Given the description of an element on the screen output the (x, y) to click on. 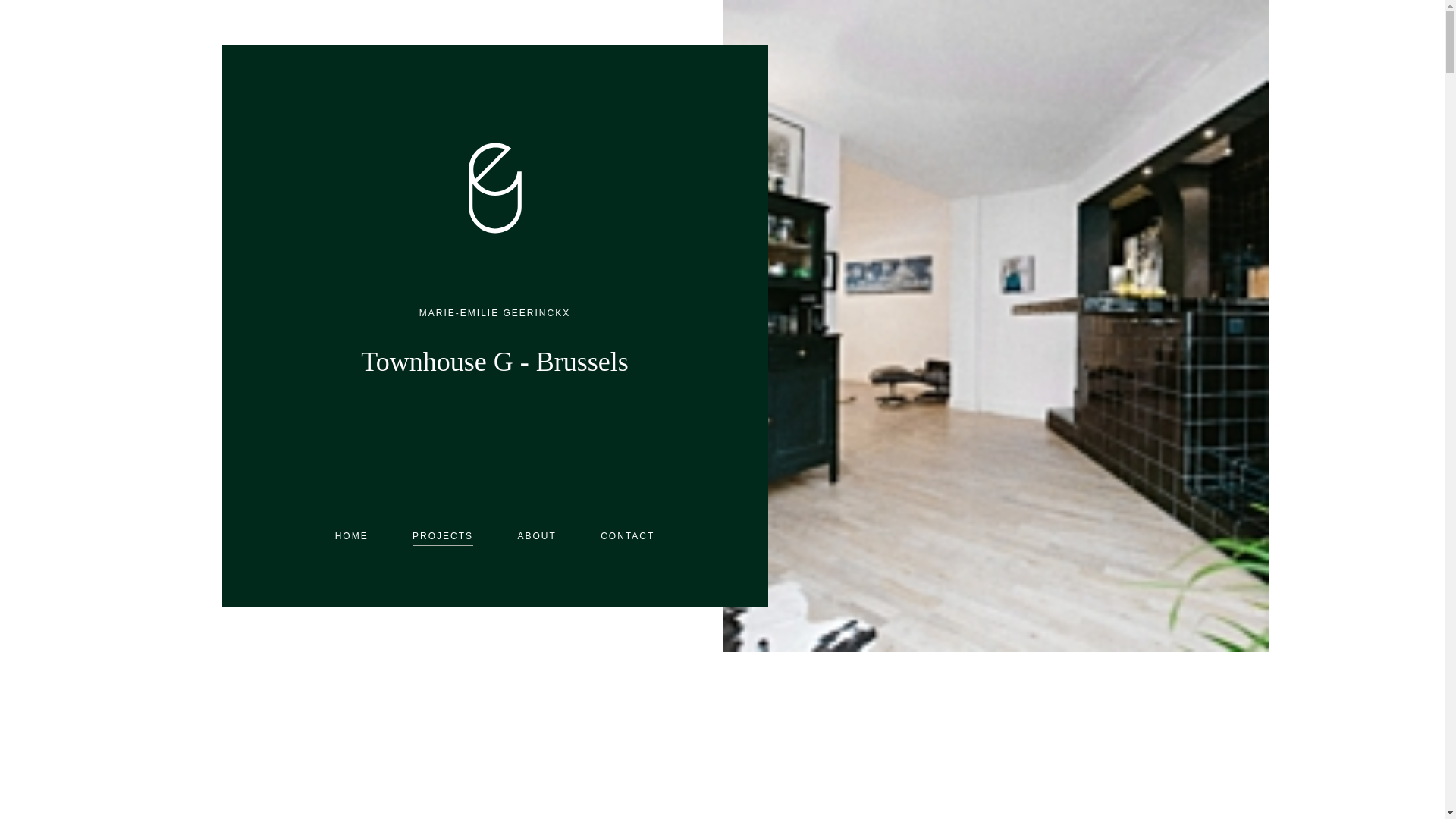
ABOUT (536, 535)
HOME (351, 535)
CONTACT (626, 535)
PROJECTS (442, 535)
